Given the description of an element on the screen output the (x, y) to click on. 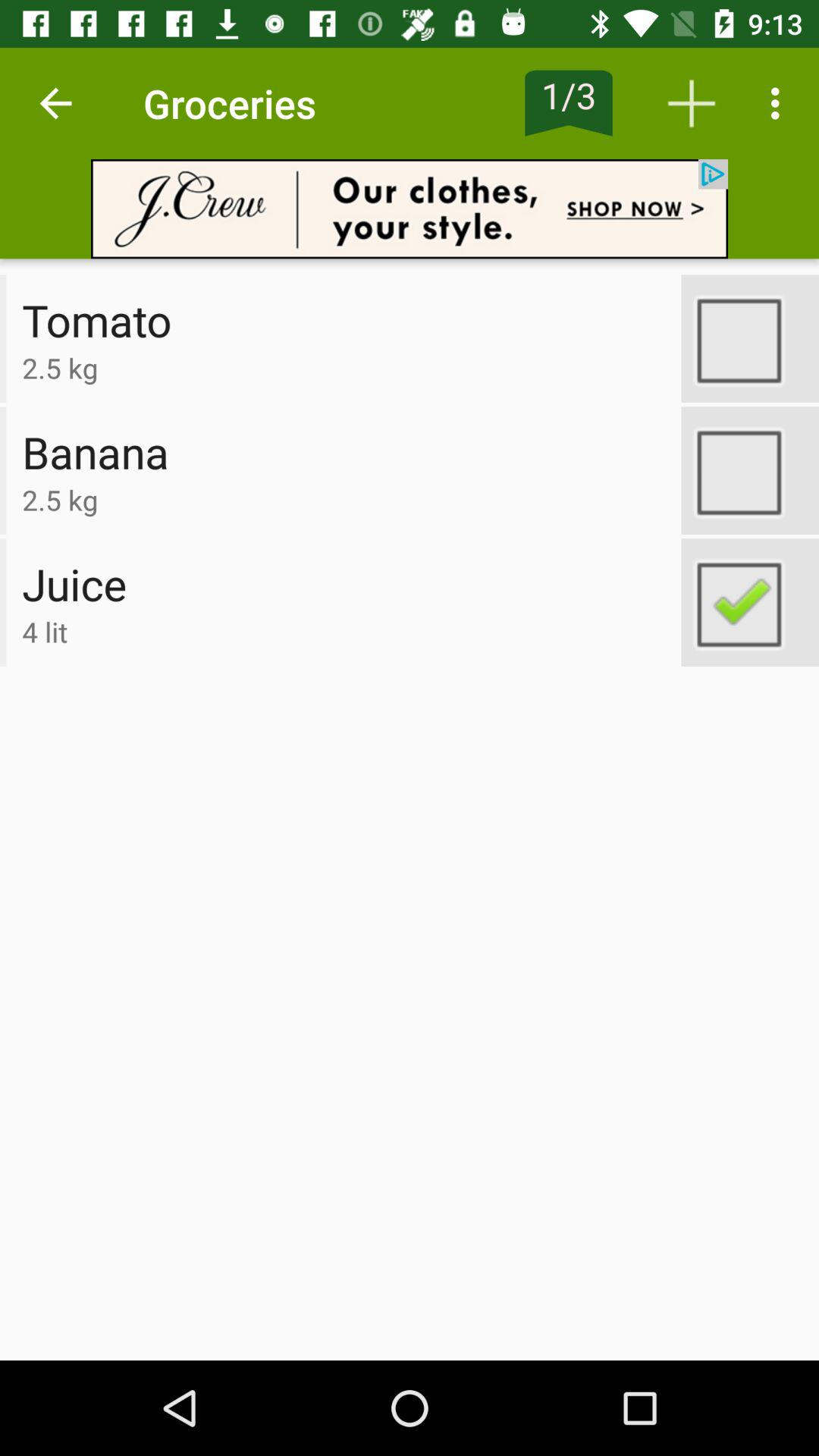
advertisement (409, 208)
